Given the description of an element on the screen output the (x, y) to click on. 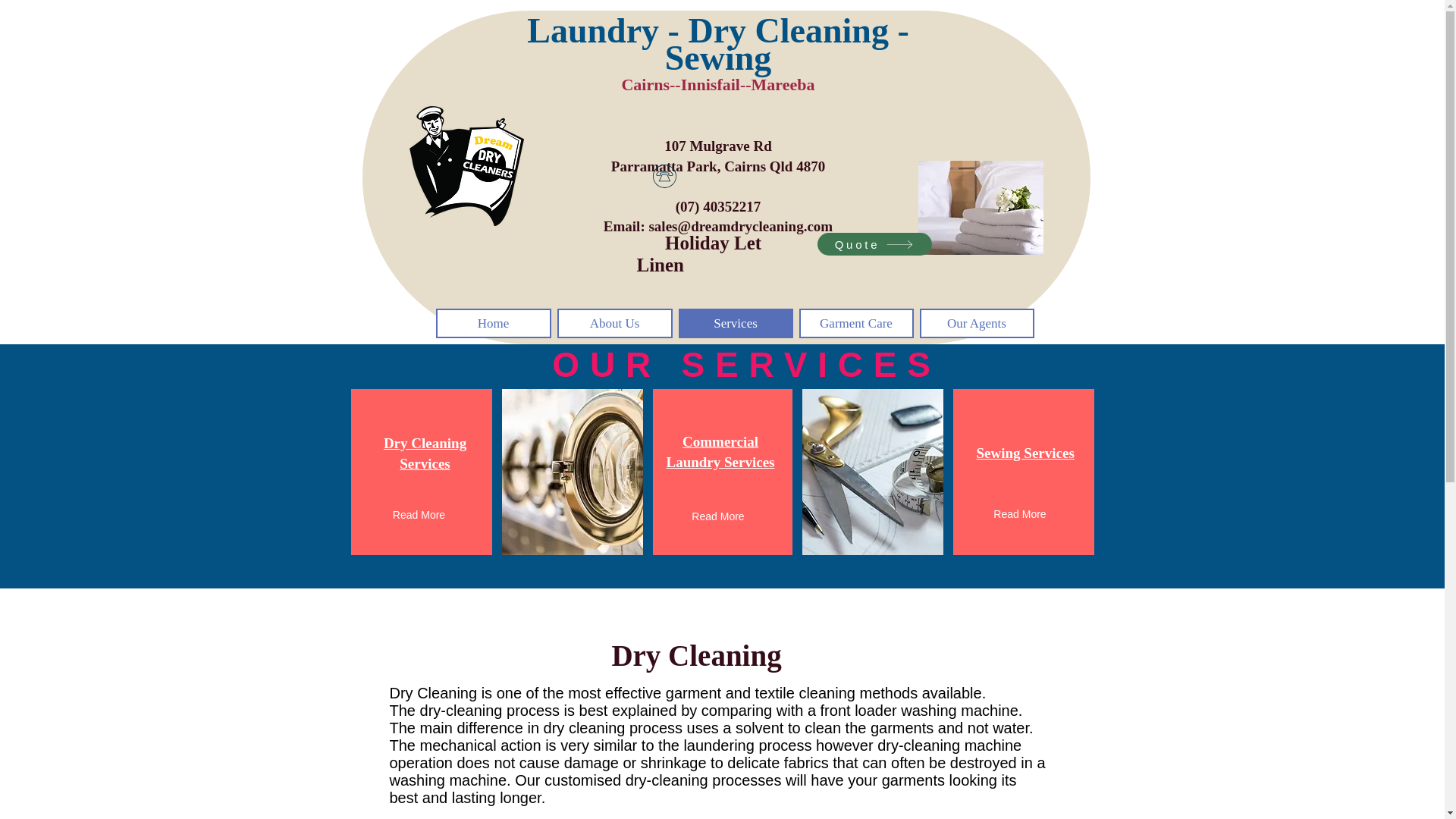
Home (719, 452)
Read More (492, 323)
Services (424, 452)
Quote (418, 515)
Read More (735, 323)
2.png (873, 243)
Sewing Services (1019, 515)
Garment Care (466, 166)
Read More (1025, 453)
Our Agents (856, 323)
About Us (718, 517)
